Given the description of an element on the screen output the (x, y) to click on. 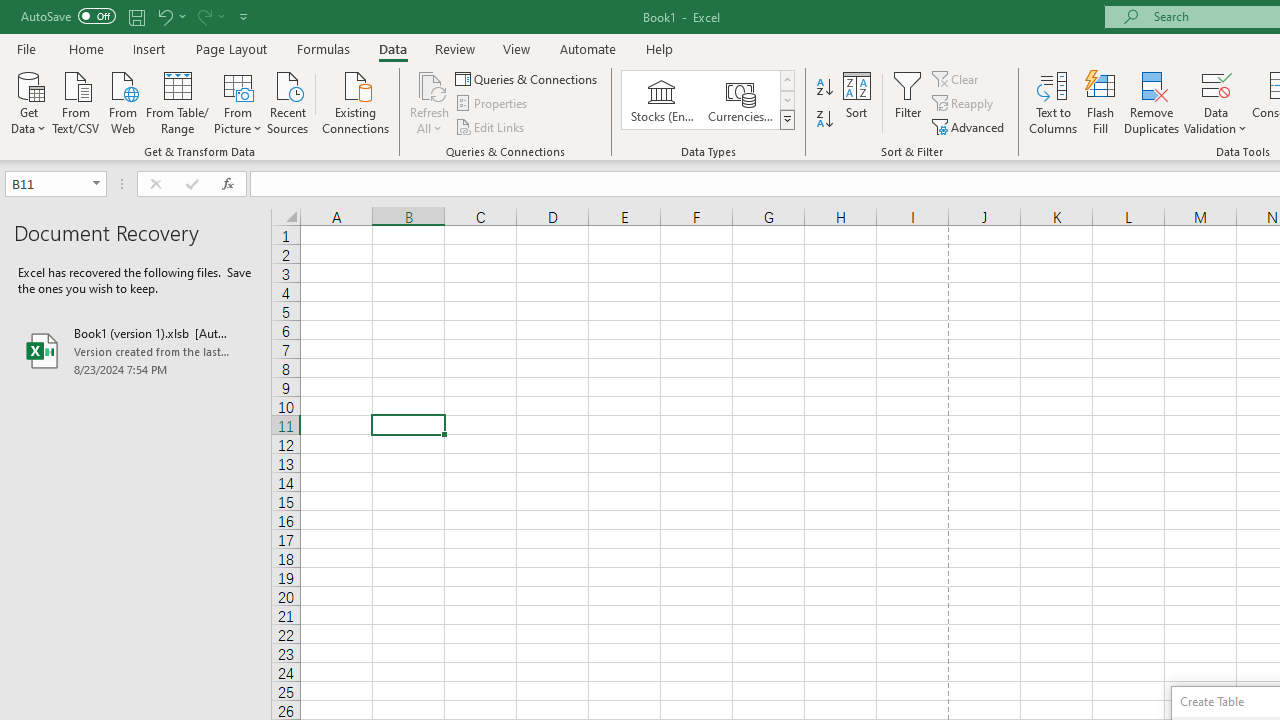
Reapply (964, 103)
Data Types (786, 120)
Class: NetUIImage (787, 119)
Text to Columns... (1053, 102)
Advanced... (970, 126)
Row Down (786, 100)
From Table/Range (177, 101)
